Given the description of an element on the screen output the (x, y) to click on. 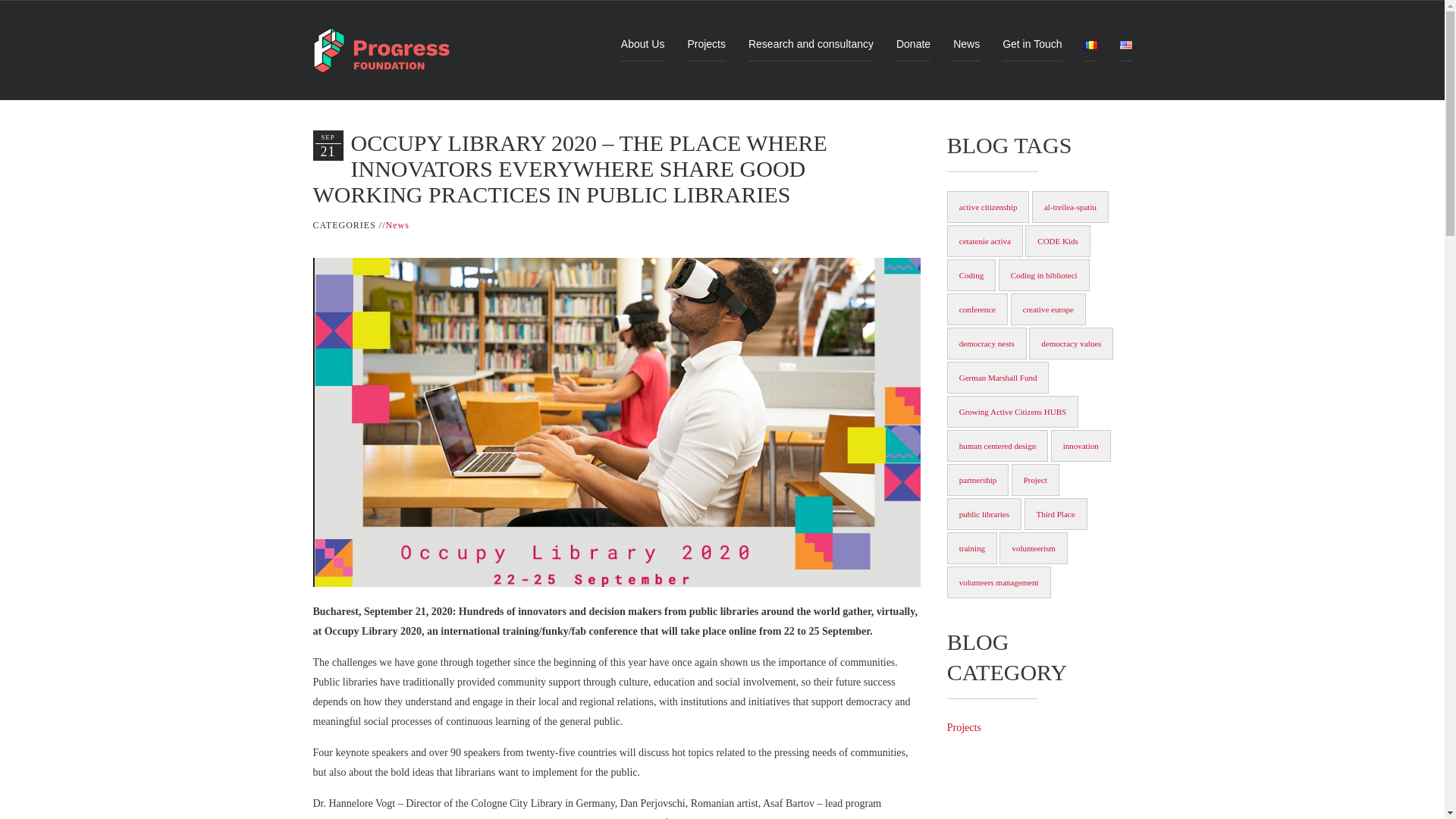
Donate (913, 44)
cetatenie activa Tag (985, 241)
democracy nests Tag (986, 343)
creative europe Tag (1047, 309)
Research and consultancy (810, 44)
Growing Active Citizens HUBS Tag (1012, 411)
democracy values Tag (1071, 343)
conference Tag (977, 309)
Projects (706, 44)
Get in Touch (1032, 44)
